Given the description of an element on the screen output the (x, y) to click on. 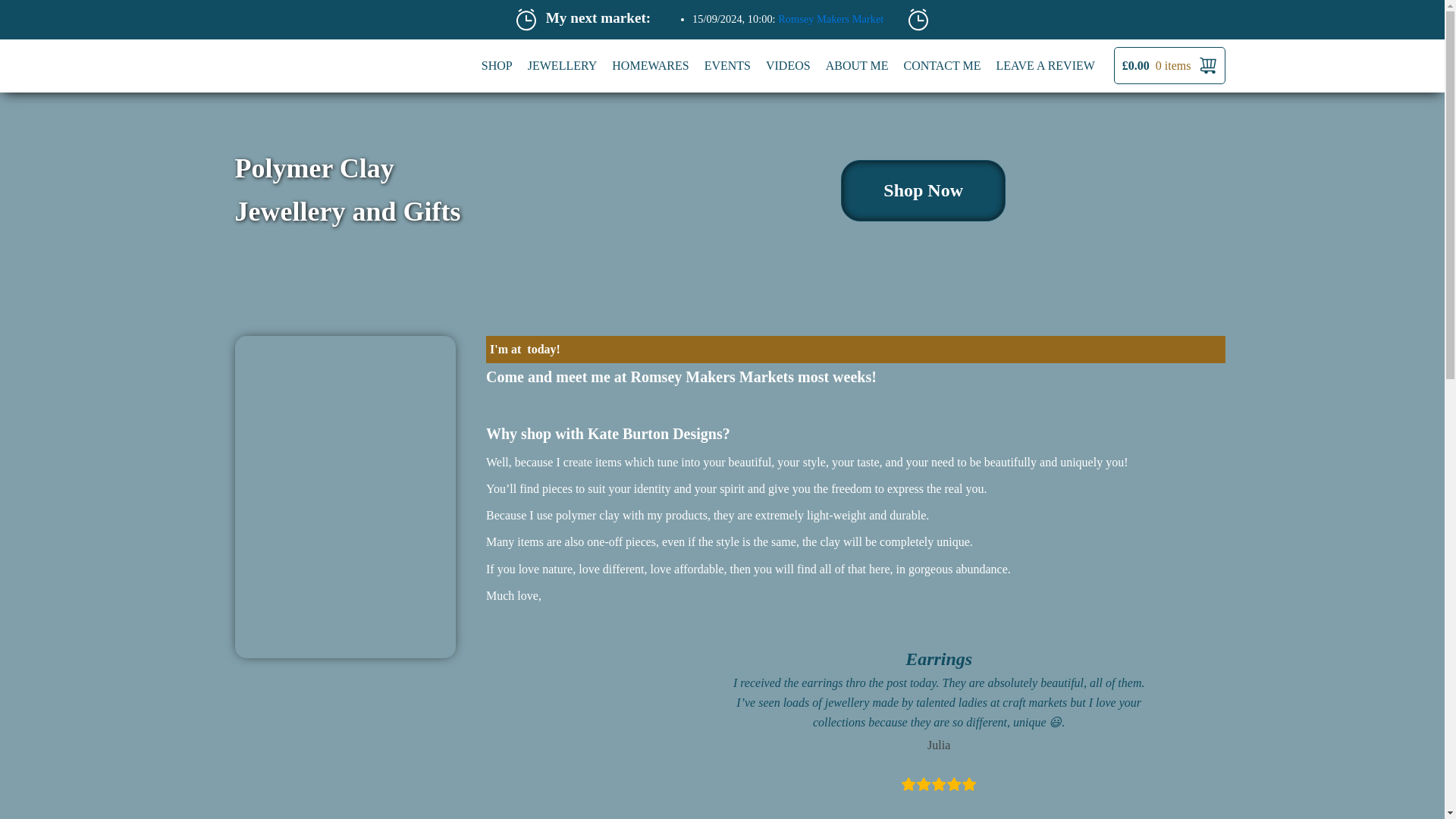
ABOUT ME (857, 65)
Romsey Makers Market (830, 19)
HOMEWARES (649, 65)
Shop Now (923, 189)
VIDEOS (788, 65)
EVENTS (727, 65)
CONTACT ME (941, 65)
LEAVE A REVIEW (1045, 65)
SHOP (496, 65)
JEWELLERY (562, 65)
